Given the description of an element on the screen output the (x, y) to click on. 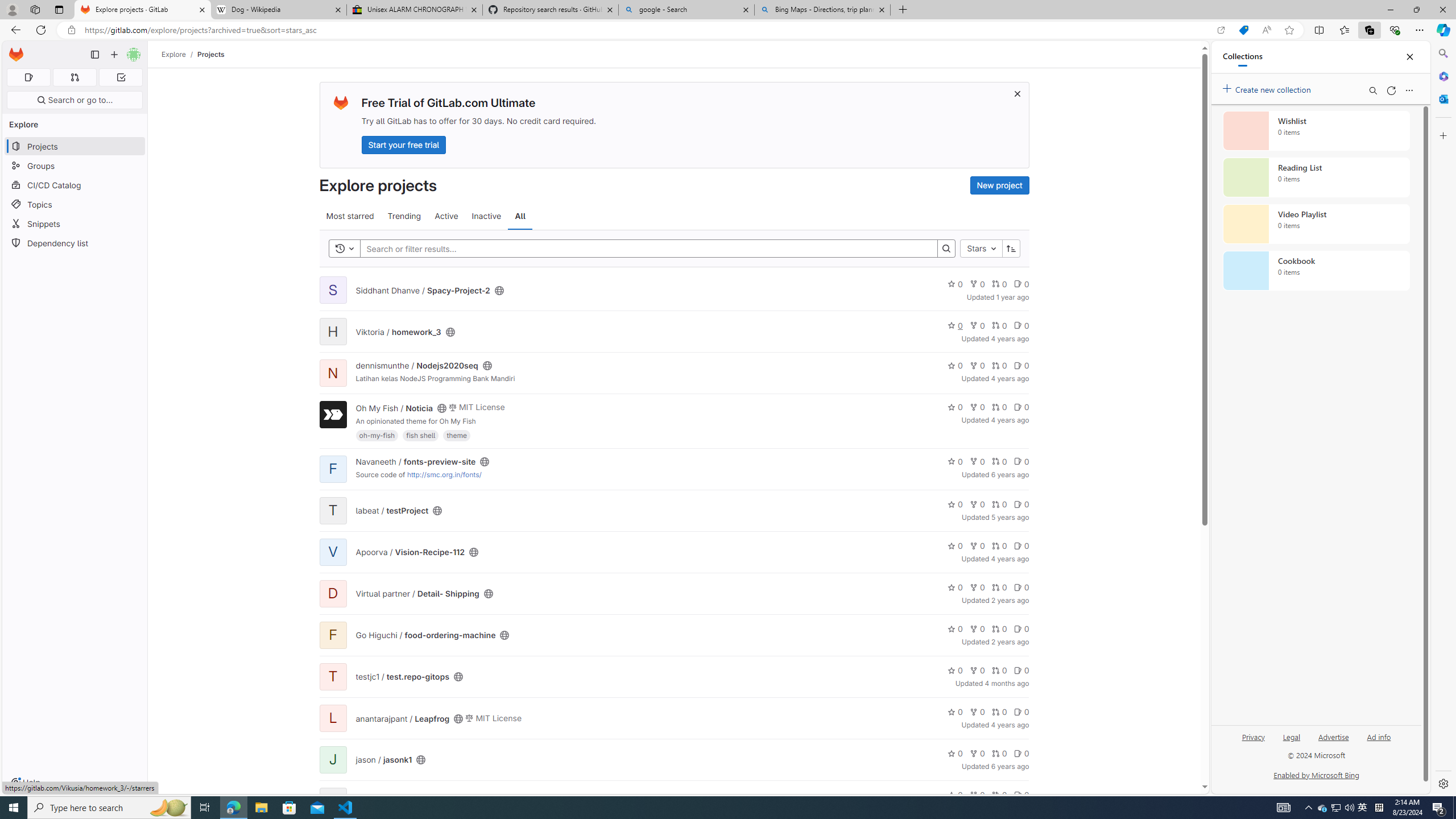
CI/CD Catalog (74, 185)
DVirtual partner / Detail- Shipping0000Updated 2 years ago (673, 593)
Customize (1442, 135)
Help (25, 782)
